Given the description of an element on the screen output the (x, y) to click on. 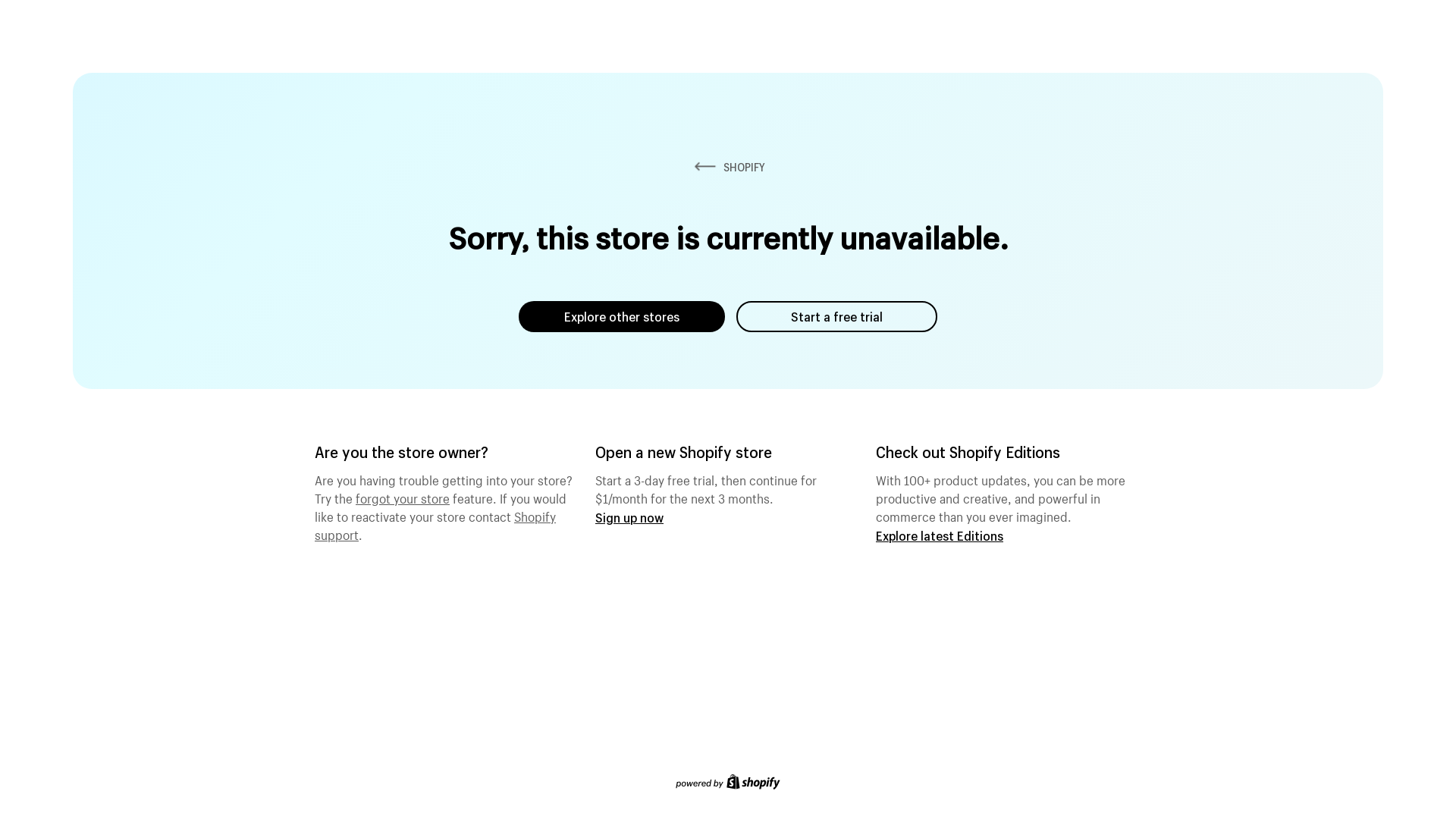
Shopify support Element type: text (434, 523)
forgot your store Element type: text (402, 496)
SHOPIFY Element type: text (727, 167)
Sign up now Element type: text (629, 517)
Start a free trial Element type: text (836, 316)
Explore latest Editions Element type: text (939, 535)
Explore other stores Element type: text (621, 316)
